Given the description of an element on the screen output the (x, y) to click on. 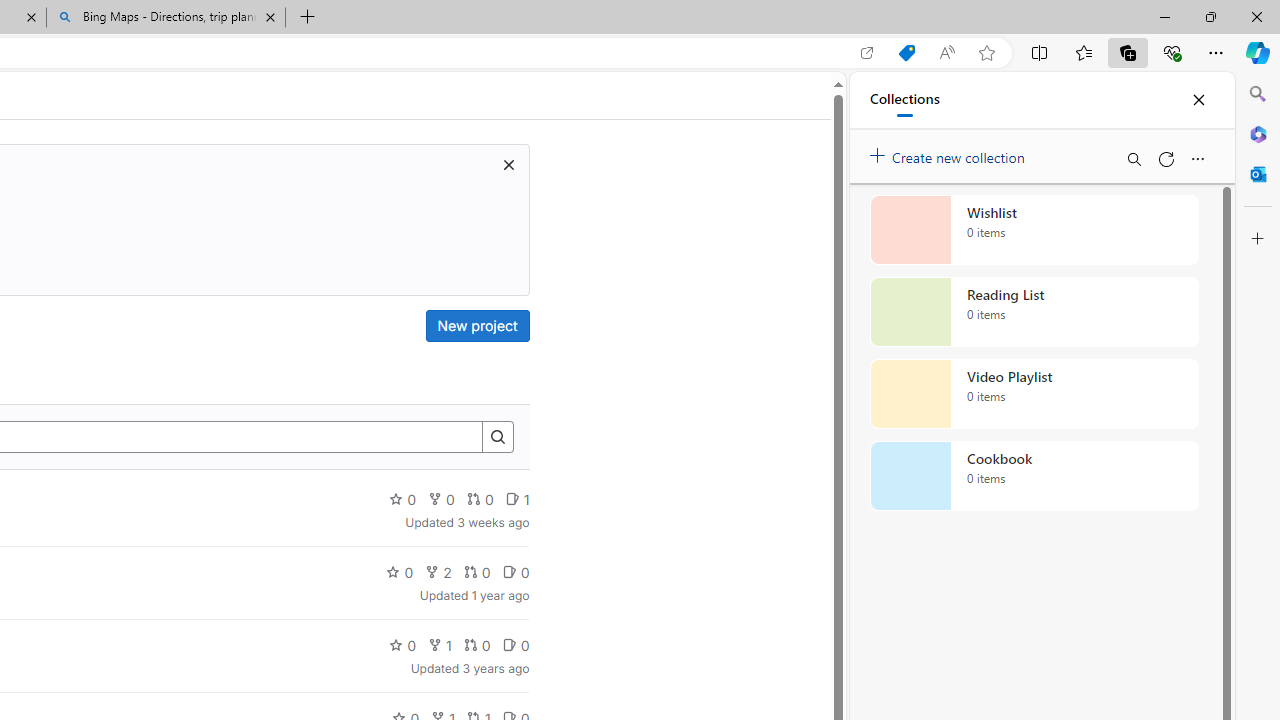
Wishlist collection, 0 items (1034, 229)
Class: s14 gl-mr-2 (509, 645)
Class: s16 gl-icon gl-button-icon  (508, 164)
0 (515, 644)
Video Playlist collection, 0 items (1034, 394)
Create new collection (950, 153)
Open in app (867, 53)
New project (476, 326)
